Given the description of an element on the screen output the (x, y) to click on. 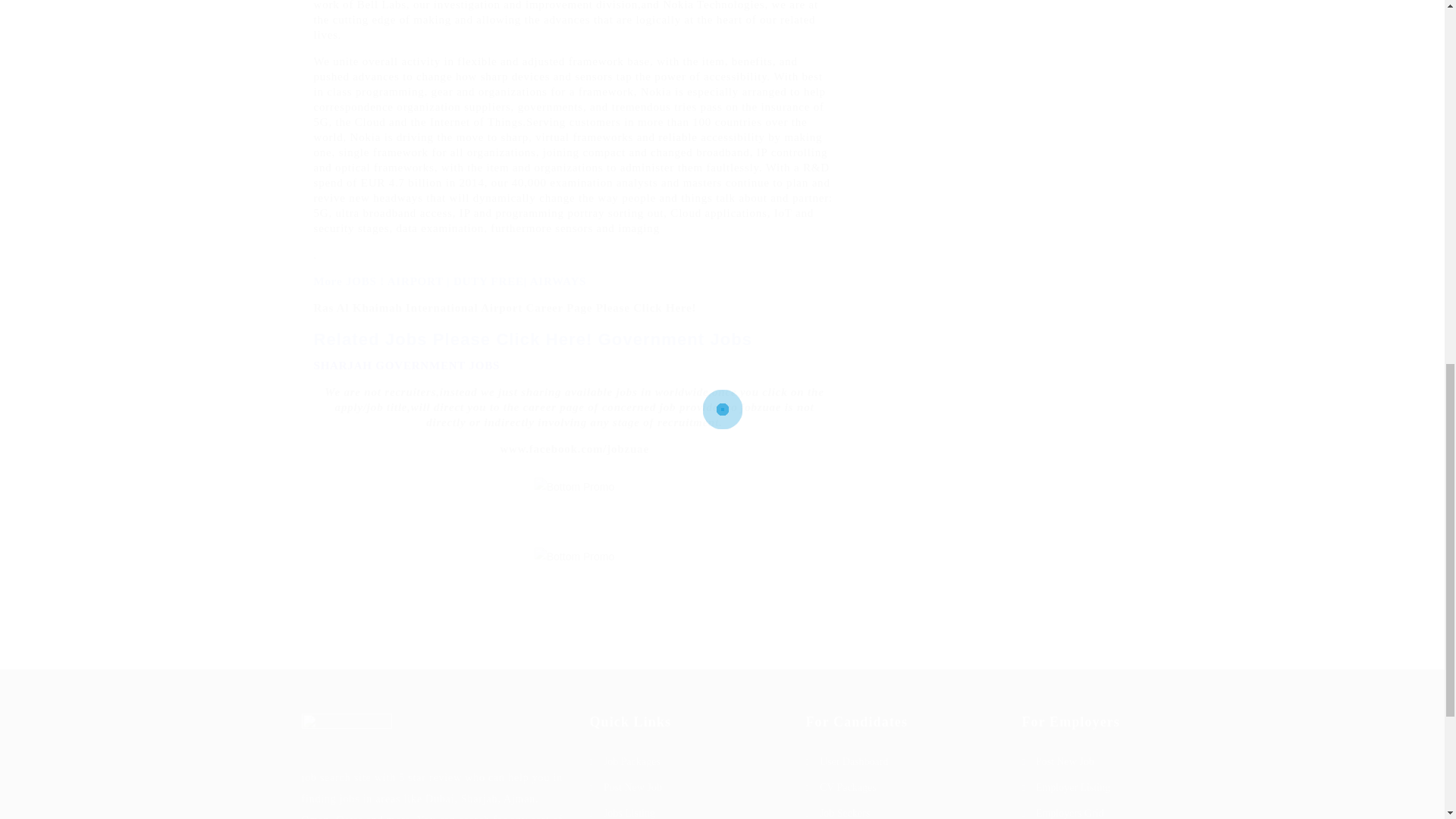
Post New Job (686, 787)
SHARJAH GOVERNMENT JOBS (407, 365)
Jobs Listing (686, 811)
Related Jobs Please Click Here! Government Jobs (533, 339)
Job Packages (686, 762)
